Given the description of an element on the screen output the (x, y) to click on. 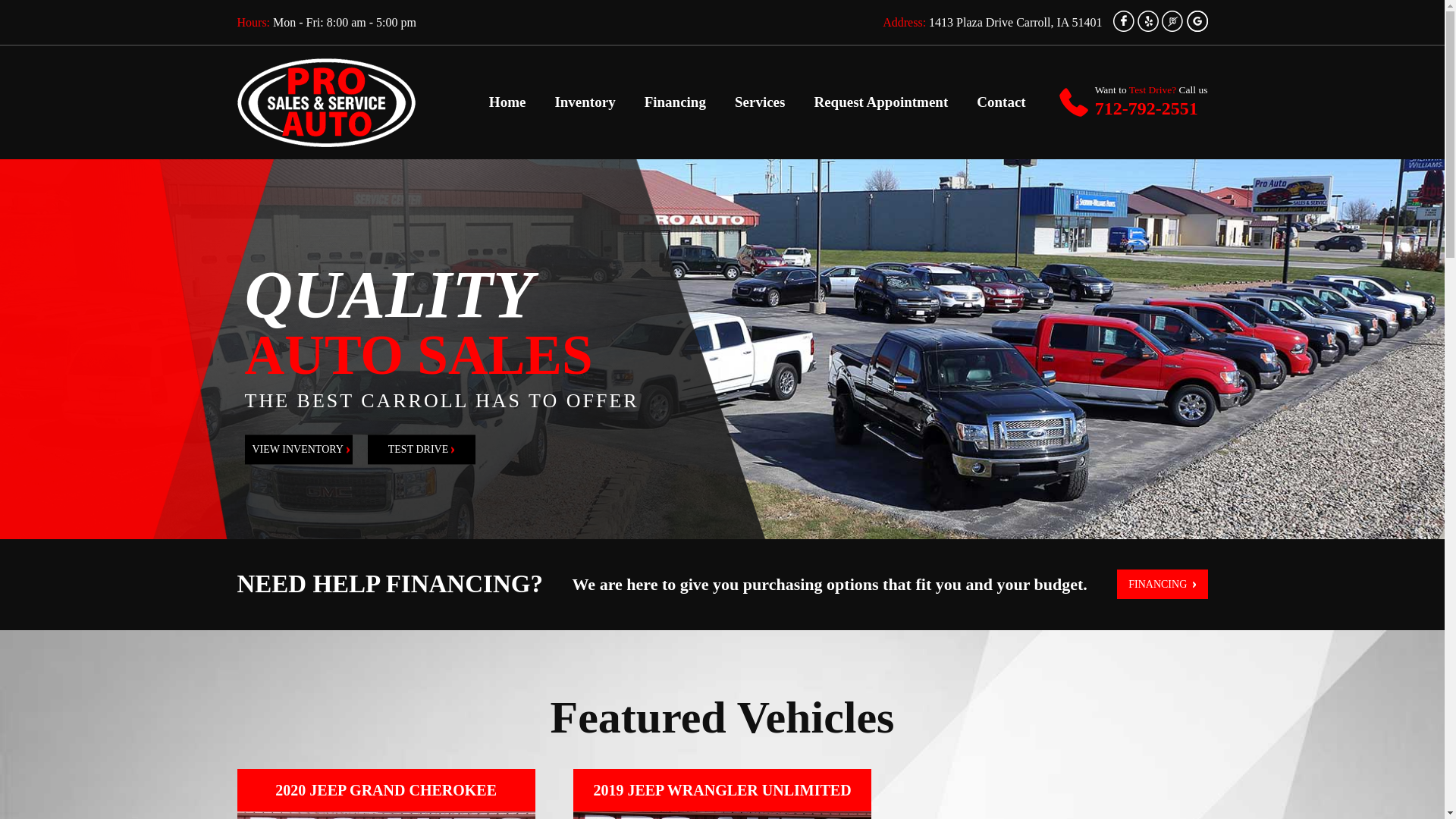
Home (507, 102)
Financing (675, 102)
Contact (1000, 102)
Home (507, 102)
Services (759, 102)
Contact (1000, 102)
Request Appointment (880, 102)
Services (759, 102)
FINANCING (1161, 583)
Inventory (584, 102)
Request Appointment (880, 102)
Inventory (584, 102)
VIEW INVENTORY (298, 449)
TEST DRIVE (420, 449)
712-792-2551 (1146, 107)
